Given the description of an element on the screen output the (x, y) to click on. 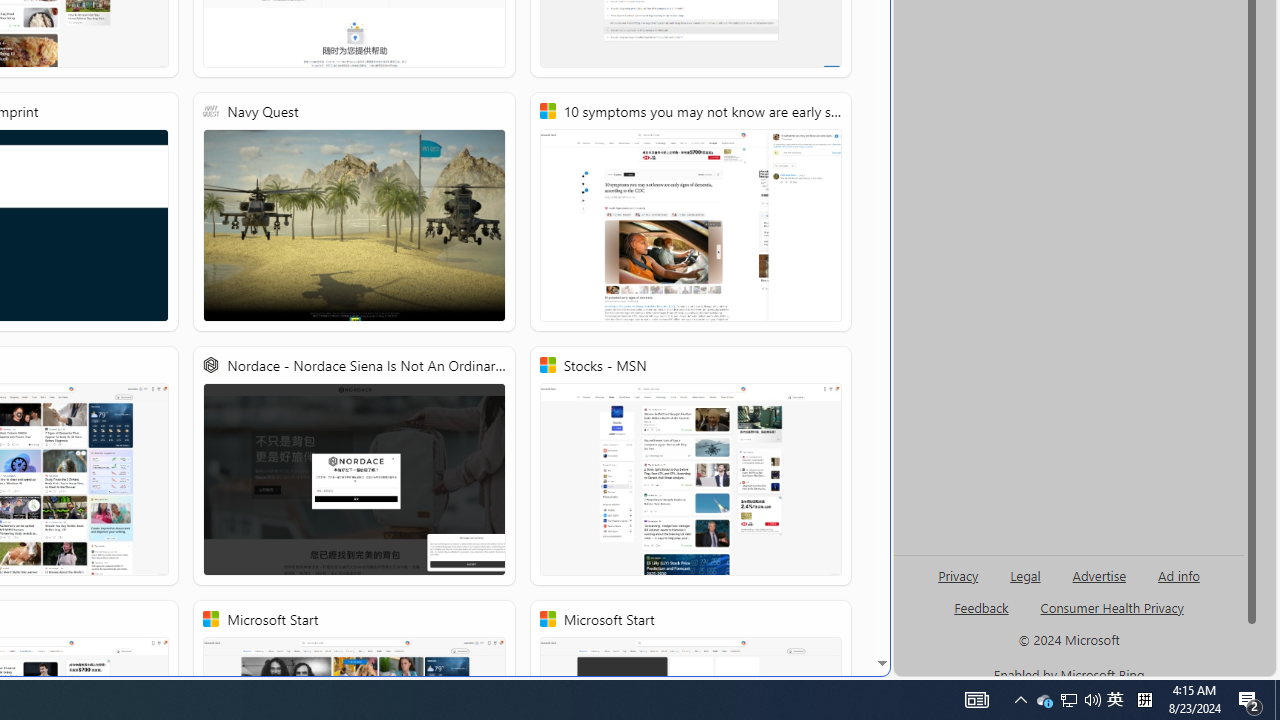
AutomationID: genId96 (981, 615)
AutomationID: sb_feedback (980, 607)
